Given the description of an element on the screen output the (x, y) to click on. 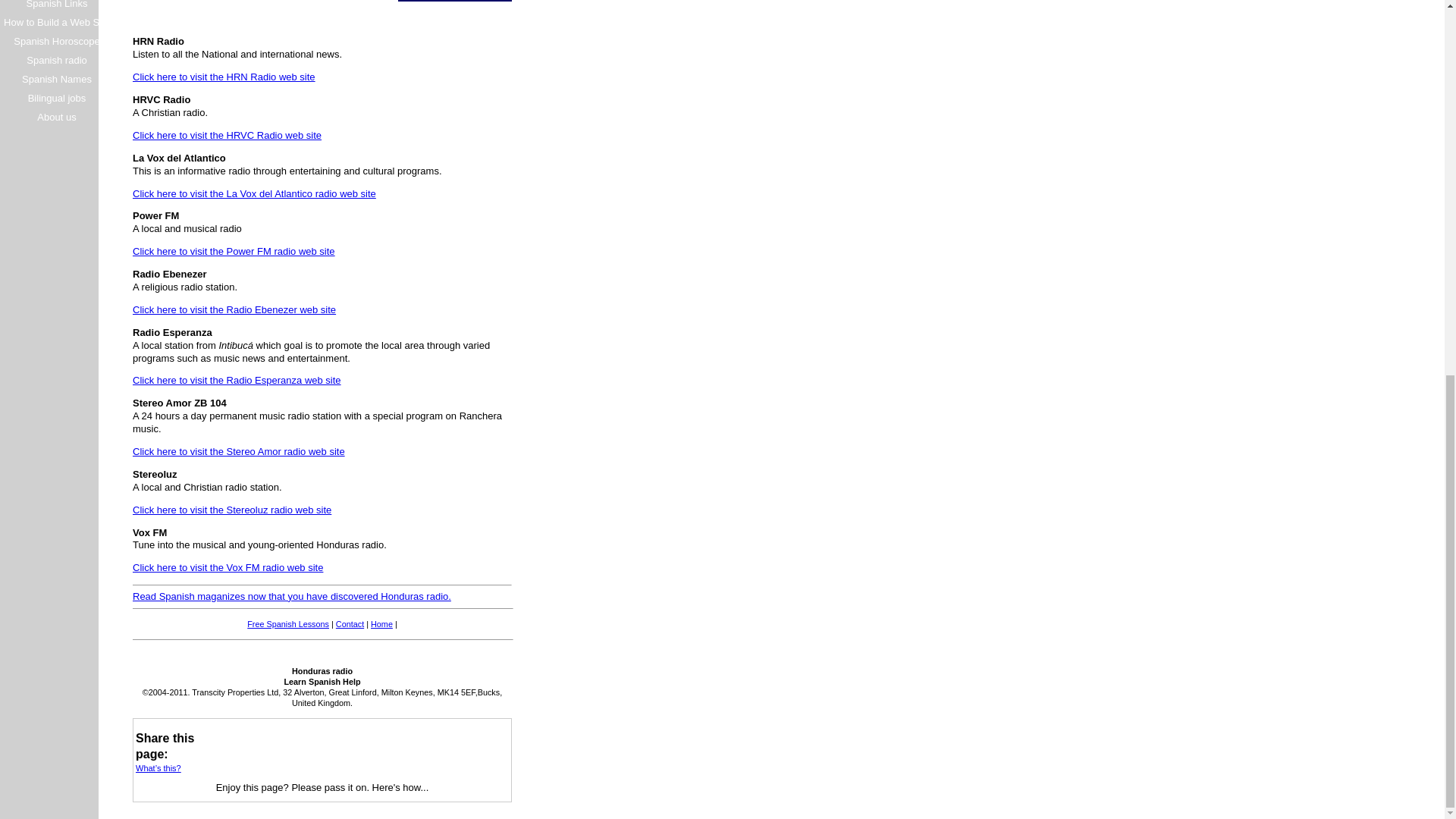
Bilingual jobs (56, 97)
About us (56, 116)
Spanish Names (56, 78)
Spanish Horoscope (56, 40)
Spanish radio (56, 59)
How to Build a Web Site (56, 22)
Spanish Links (56, 6)
